Given the description of an element on the screen output the (x, y) to click on. 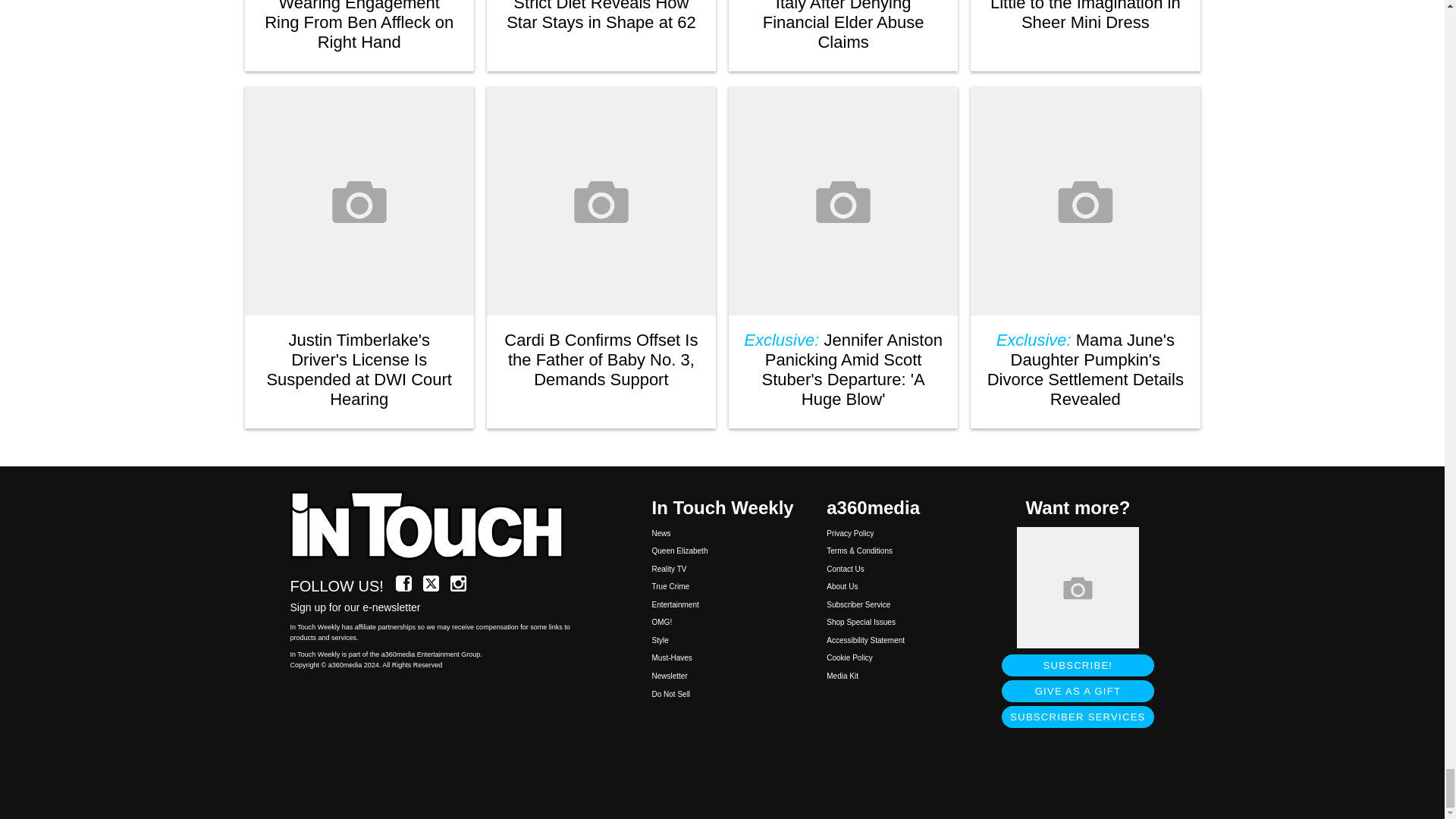
Home (434, 526)
